Given the description of an element on the screen output the (x, y) to click on. 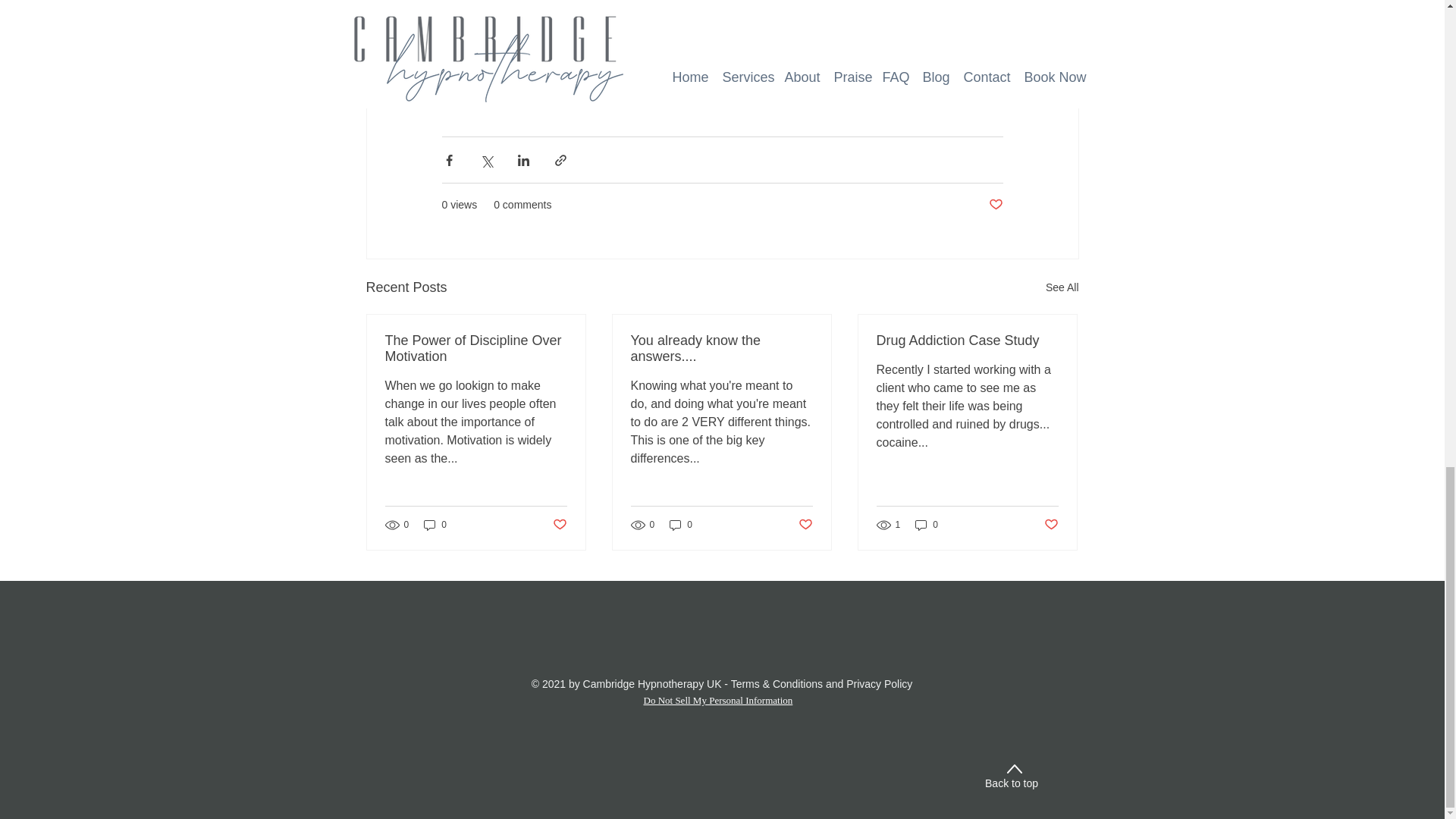
See All (1061, 287)
You already know the answers.... (721, 348)
The Power of Discipline Over Motivation (476, 348)
email here (869, 26)
Post not marked as liked (995, 204)
0 (435, 523)
Post not marked as liked (558, 524)
